Given the description of an element on the screen output the (x, y) to click on. 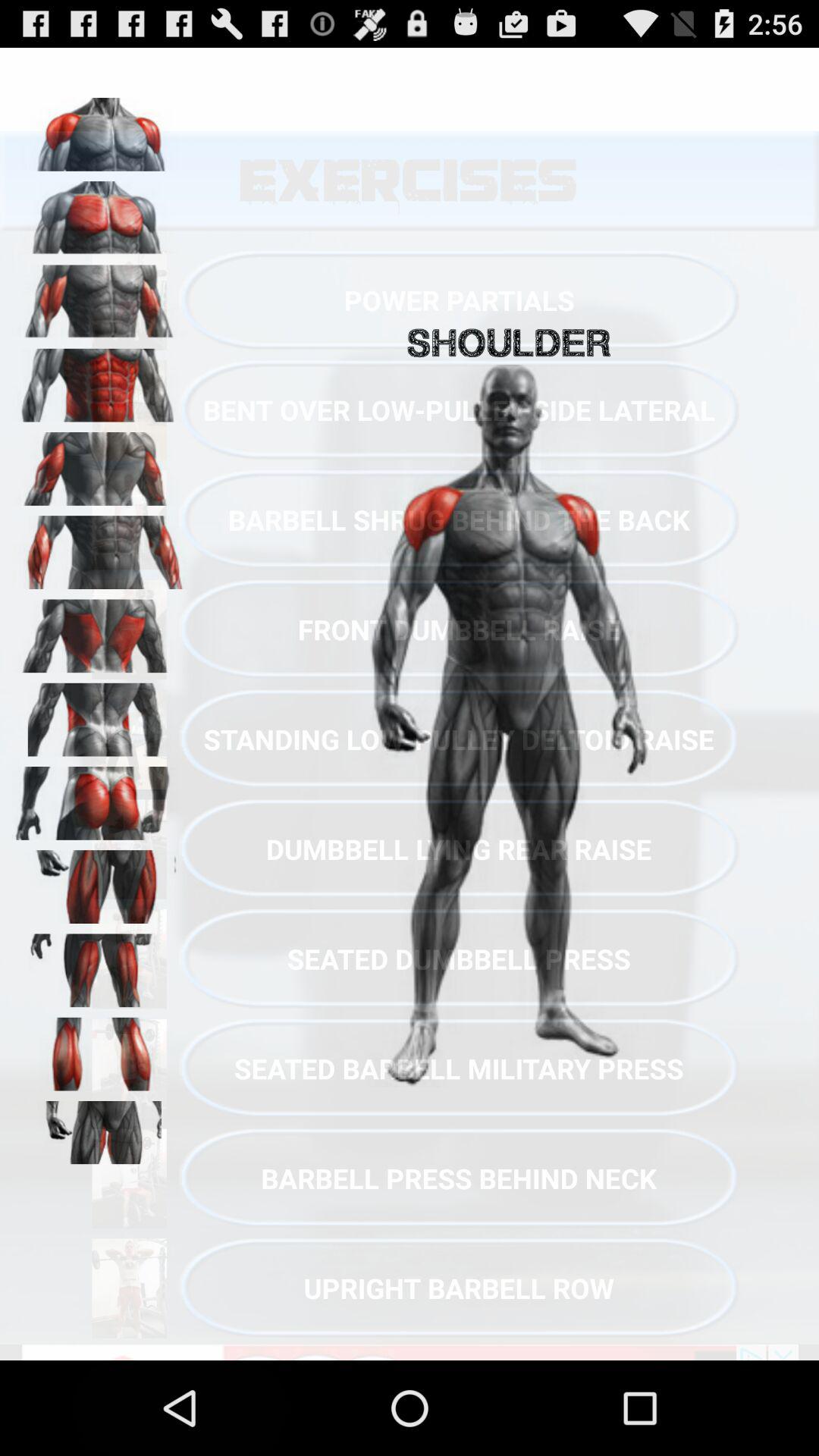
show lower back (99, 714)
